Given the description of an element on the screen output the (x, y) to click on. 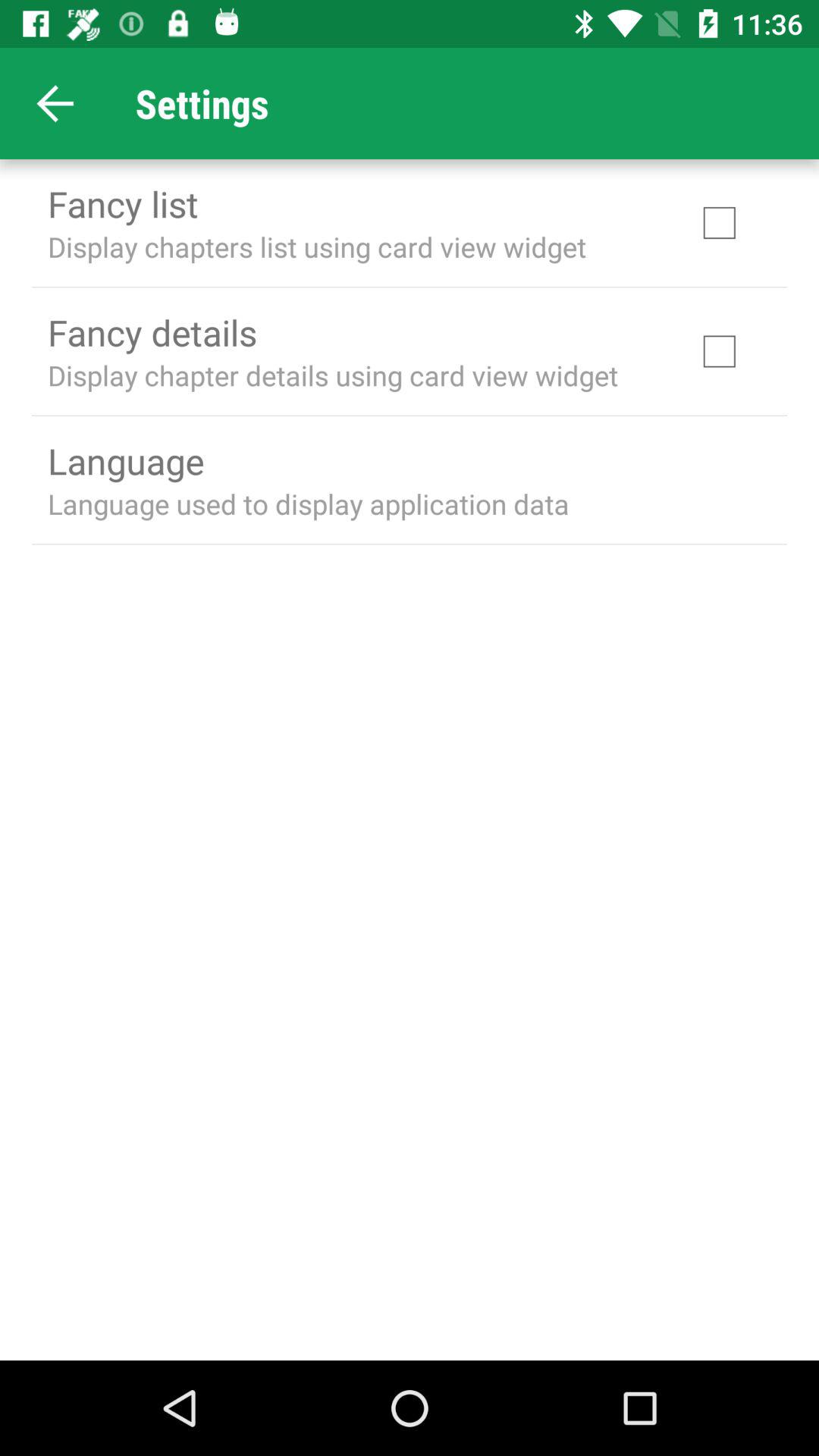
open the item above the display chapter details app (152, 332)
